Given the description of an element on the screen output the (x, y) to click on. 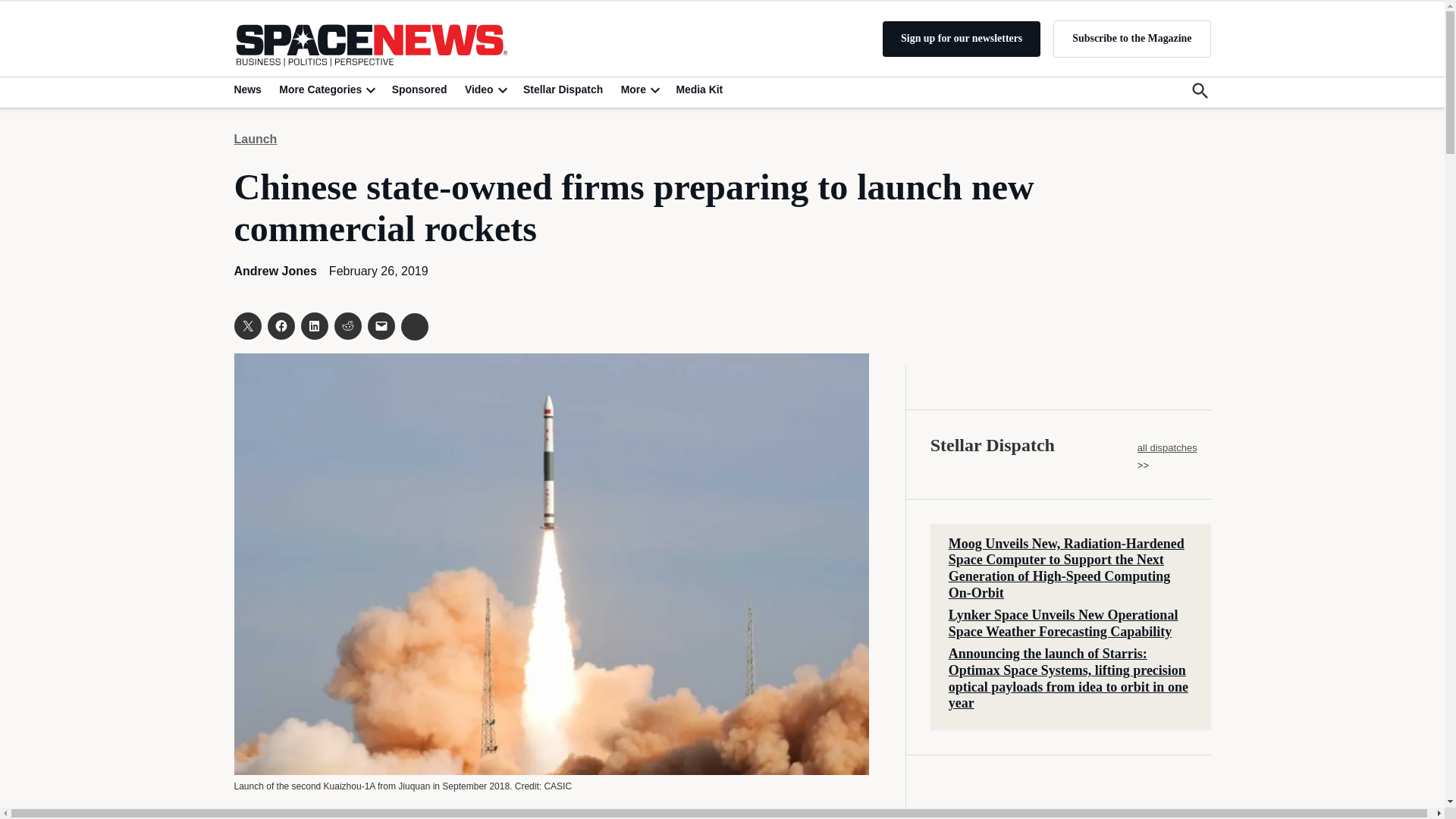
Click to email a link to a friend (380, 325)
Click to share on Reddit (347, 325)
Subscribe to the Magazine (1130, 38)
Click to share on Facebook (280, 325)
Click to share on LinkedIn (313, 325)
Click to share on X (246, 325)
Sign up for our newsletters (961, 38)
Click to share on Clipboard (414, 326)
